Given the description of an element on the screen output the (x, y) to click on. 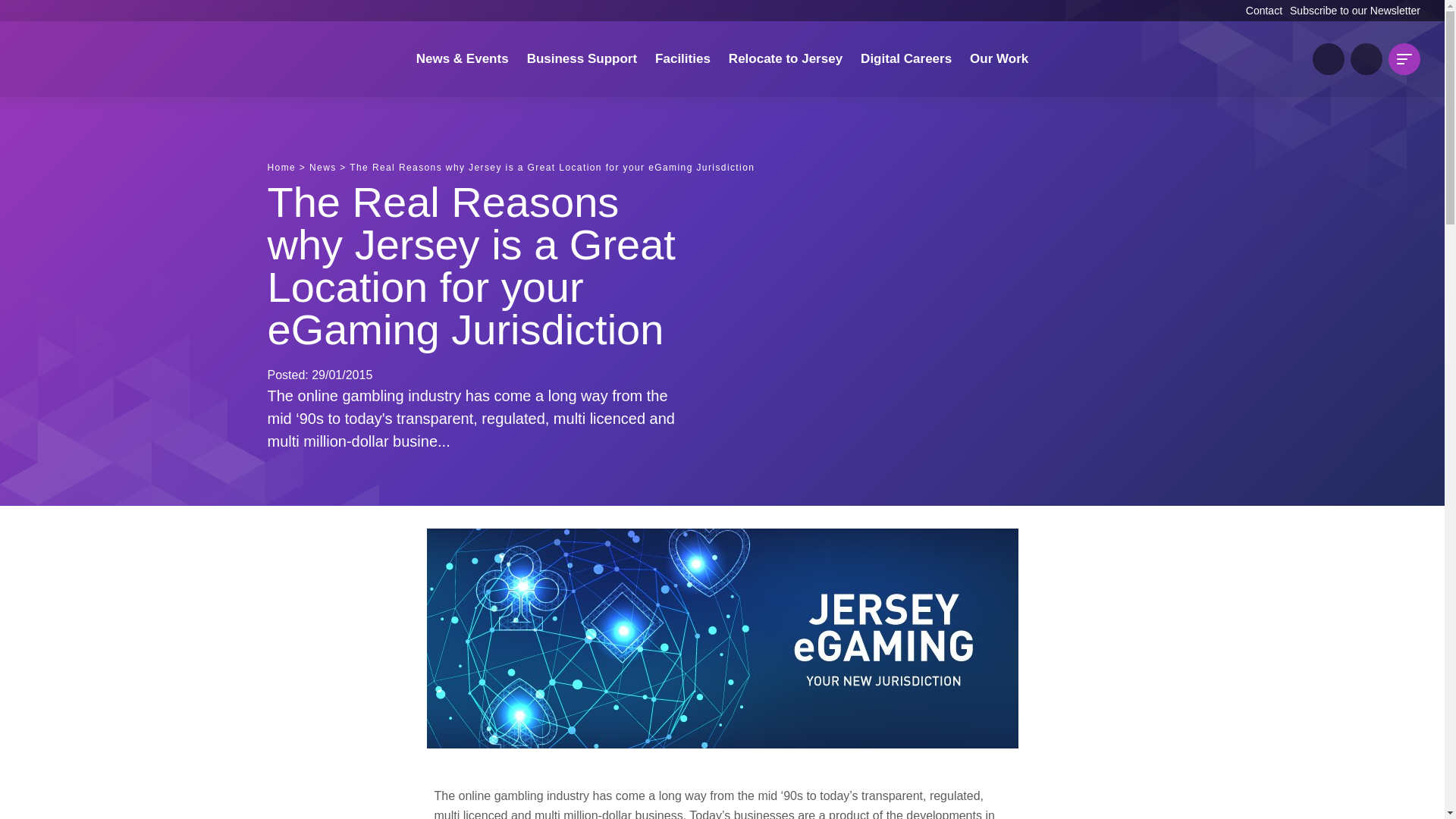
Relocate to Jersey (785, 59)
Contact (1264, 10)
Business Support (582, 59)
Facilities (682, 59)
Subscribe to our Newsletter (1355, 10)
